Given the description of an element on the screen output the (x, y) to click on. 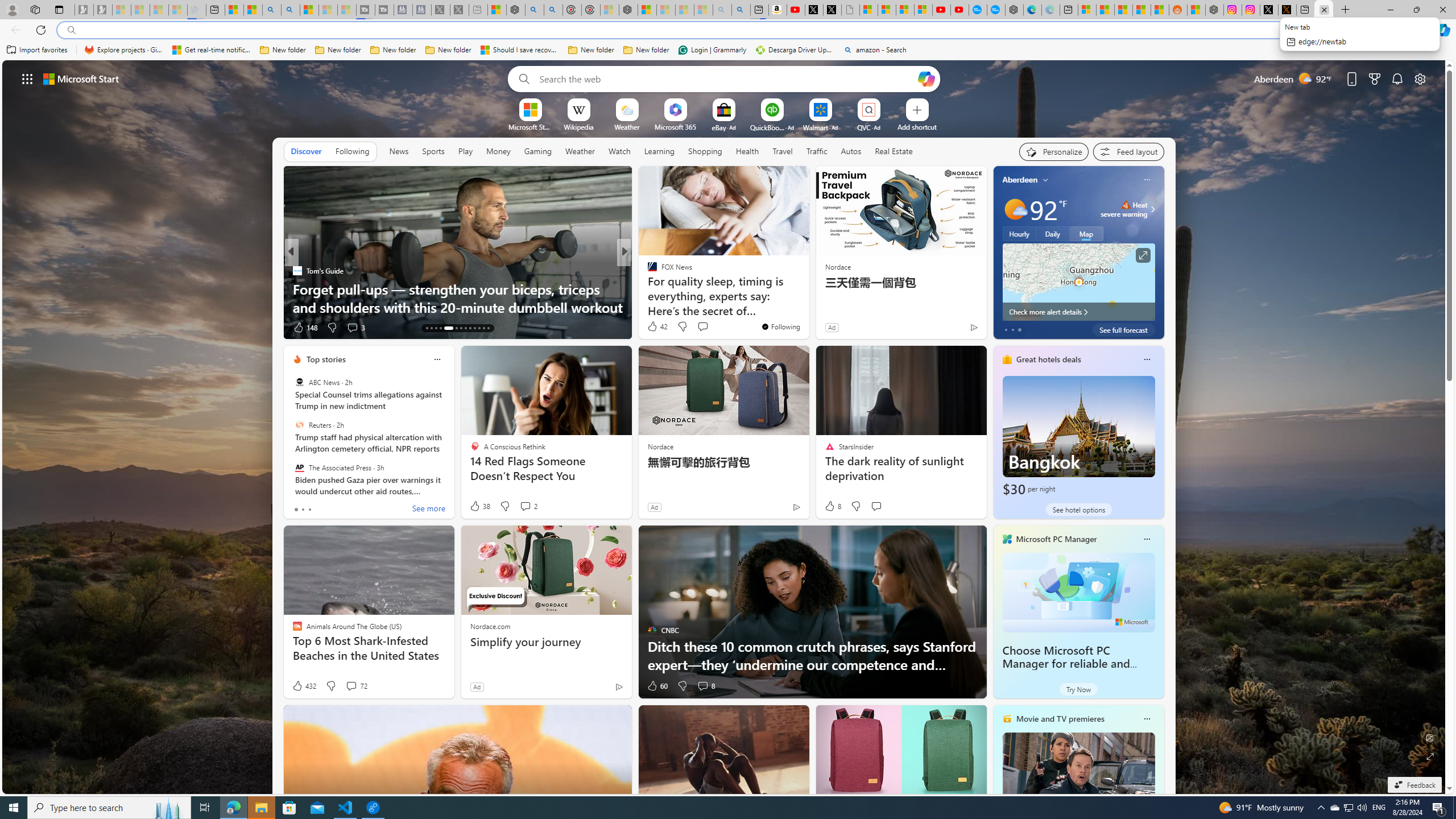
Work + Money (647, 288)
Aberdeen (1019, 179)
Import favorites (36, 49)
Log in to X / X (1268, 9)
Page settings (1420, 78)
Microsoft rewards (1374, 78)
Simplify your journey (546, 641)
